Given the description of an element on the screen output the (x, y) to click on. 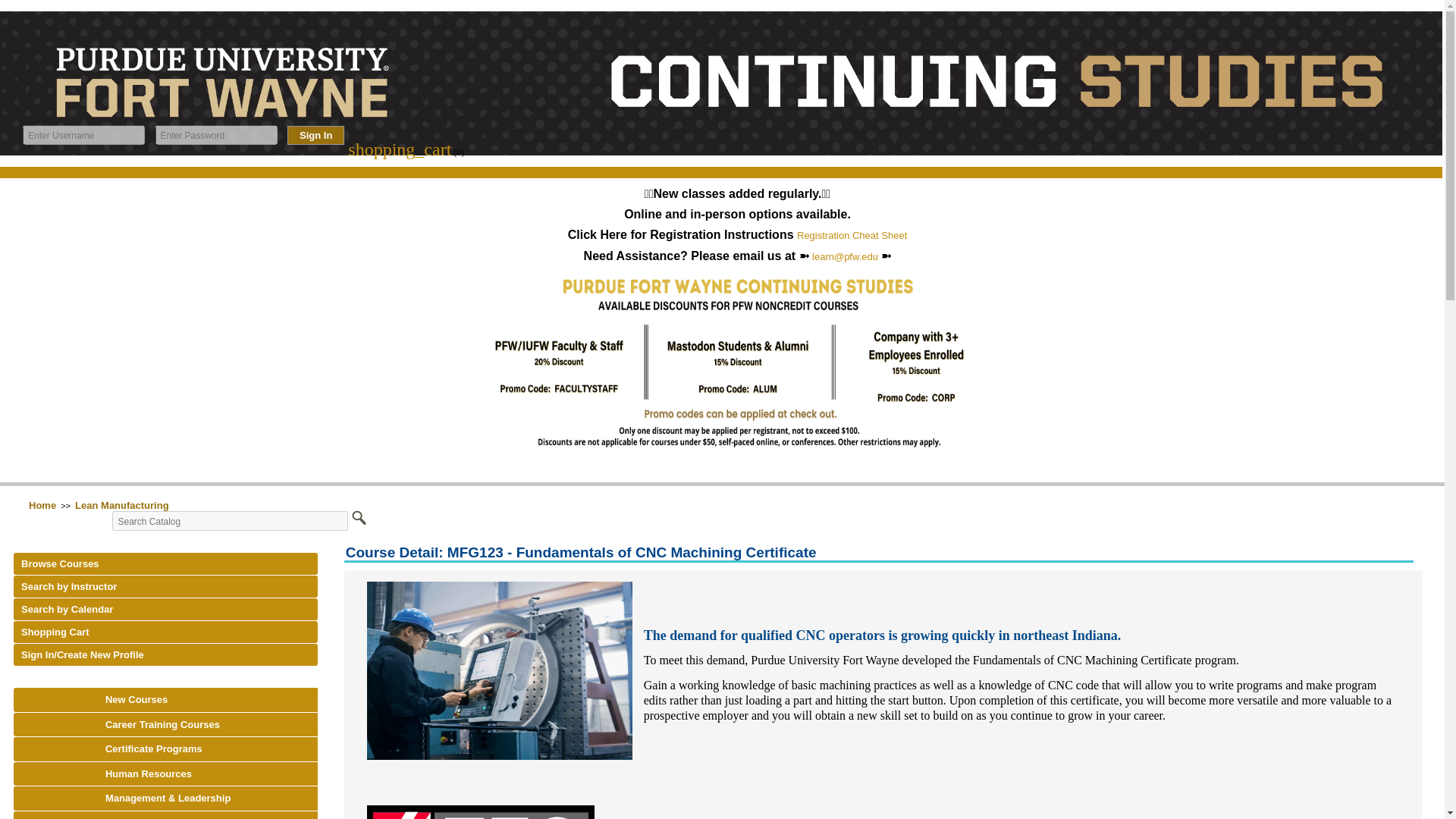
Search by Calendar (165, 608)
Enter Password (215, 134)
Lean Manufacturing (121, 505)
Registration Cheat Sheet (851, 235)
Search Catalog (229, 520)
Shopping Cart (165, 631)
Home (42, 505)
Sign In (314, 135)
Sign In (314, 135)
Search by Instructor (165, 586)
